Given the description of an element on the screen output the (x, y) to click on. 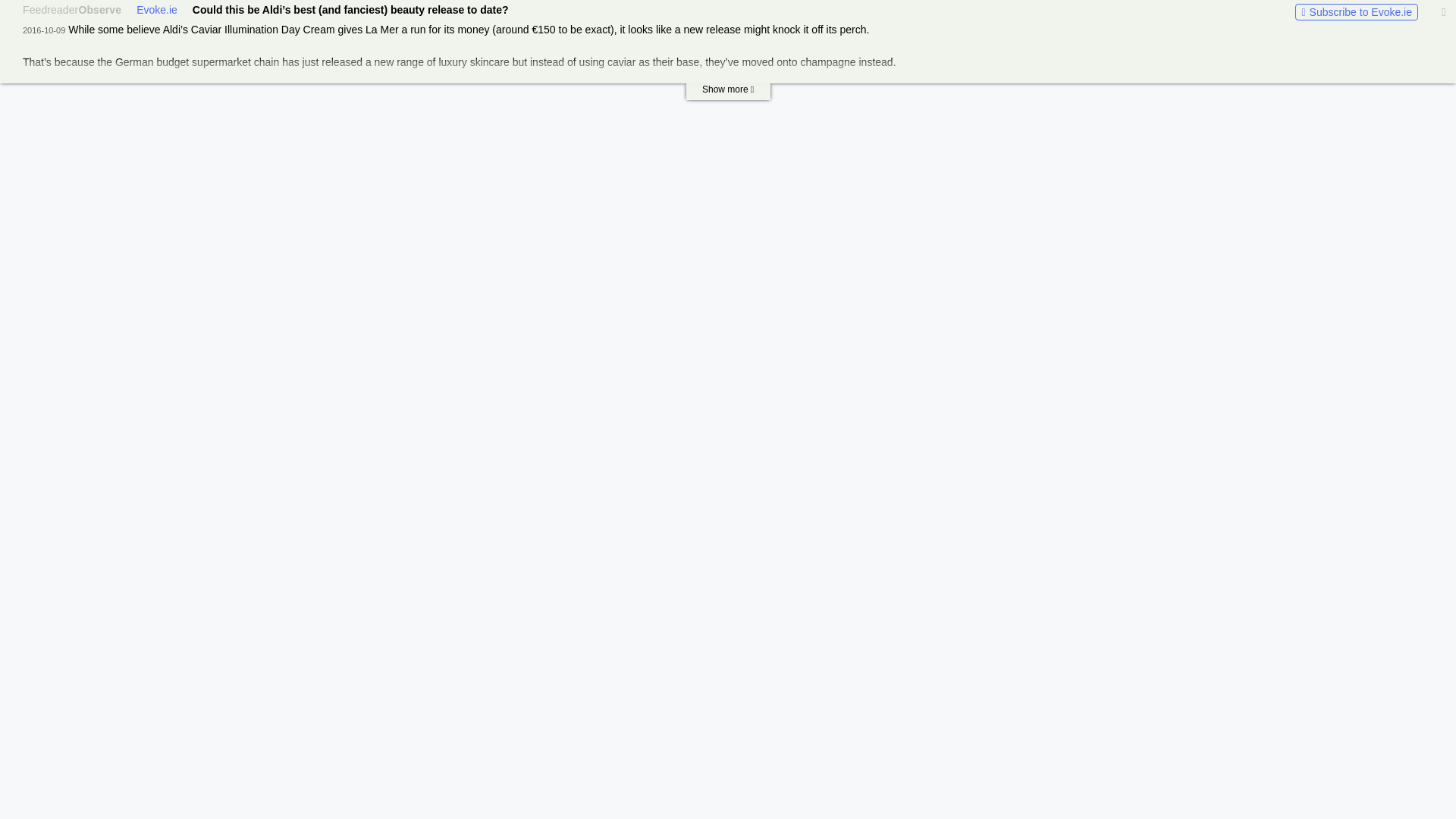
Subscribe to Evoke.ie (1356, 12)
Evoke.ie (156, 9)
FeedreaderObserve (71, 9)
Show more (727, 91)
